Given the description of an element on the screen output the (x, y) to click on. 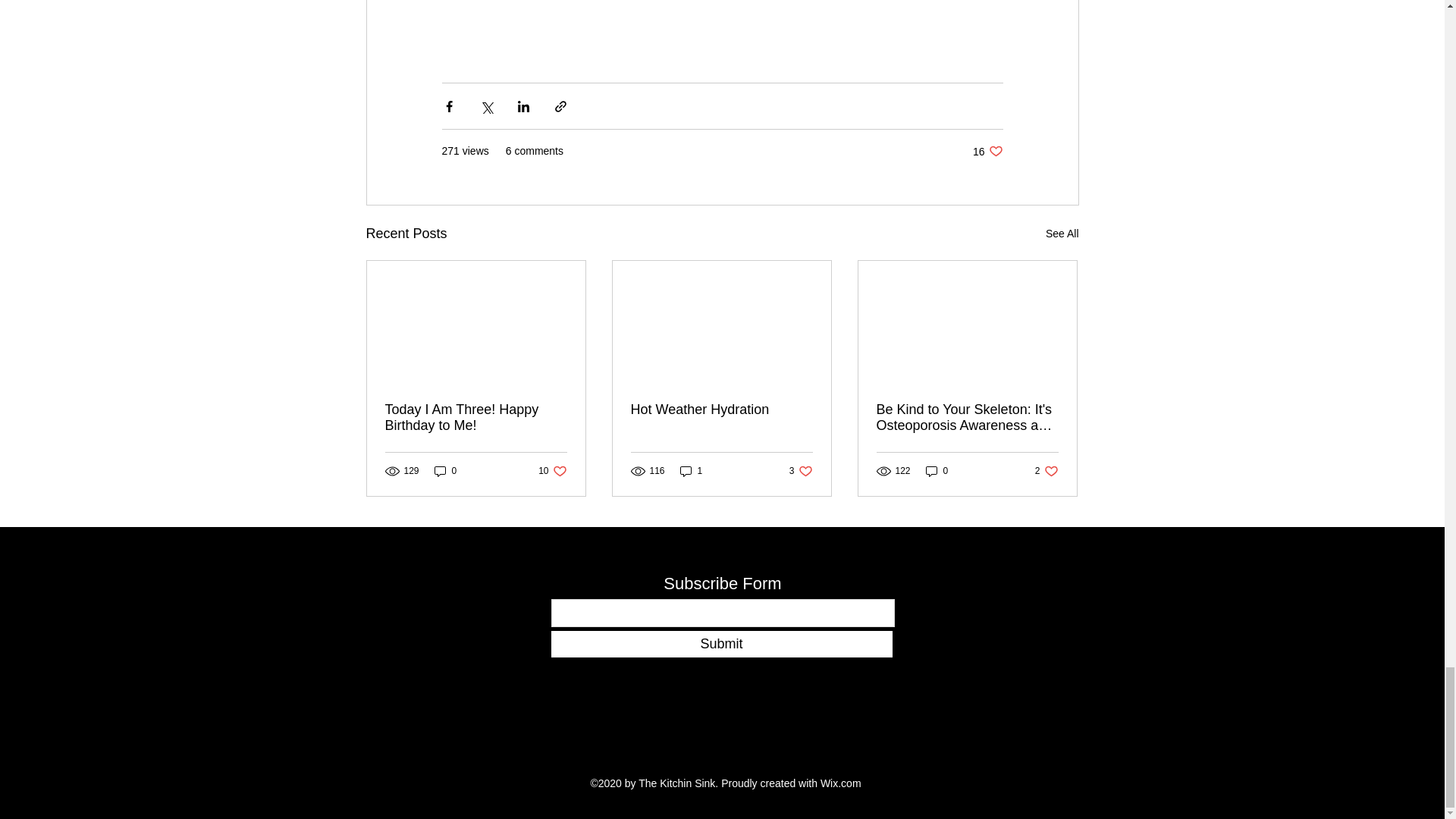
Hot Weather Hydration  (721, 409)
See All (552, 471)
0 (1061, 233)
0 (937, 471)
1 (800, 471)
Today I Am Three! Happy Birthday to Me! (445, 471)
